Given the description of an element on the screen output the (x, y) to click on. 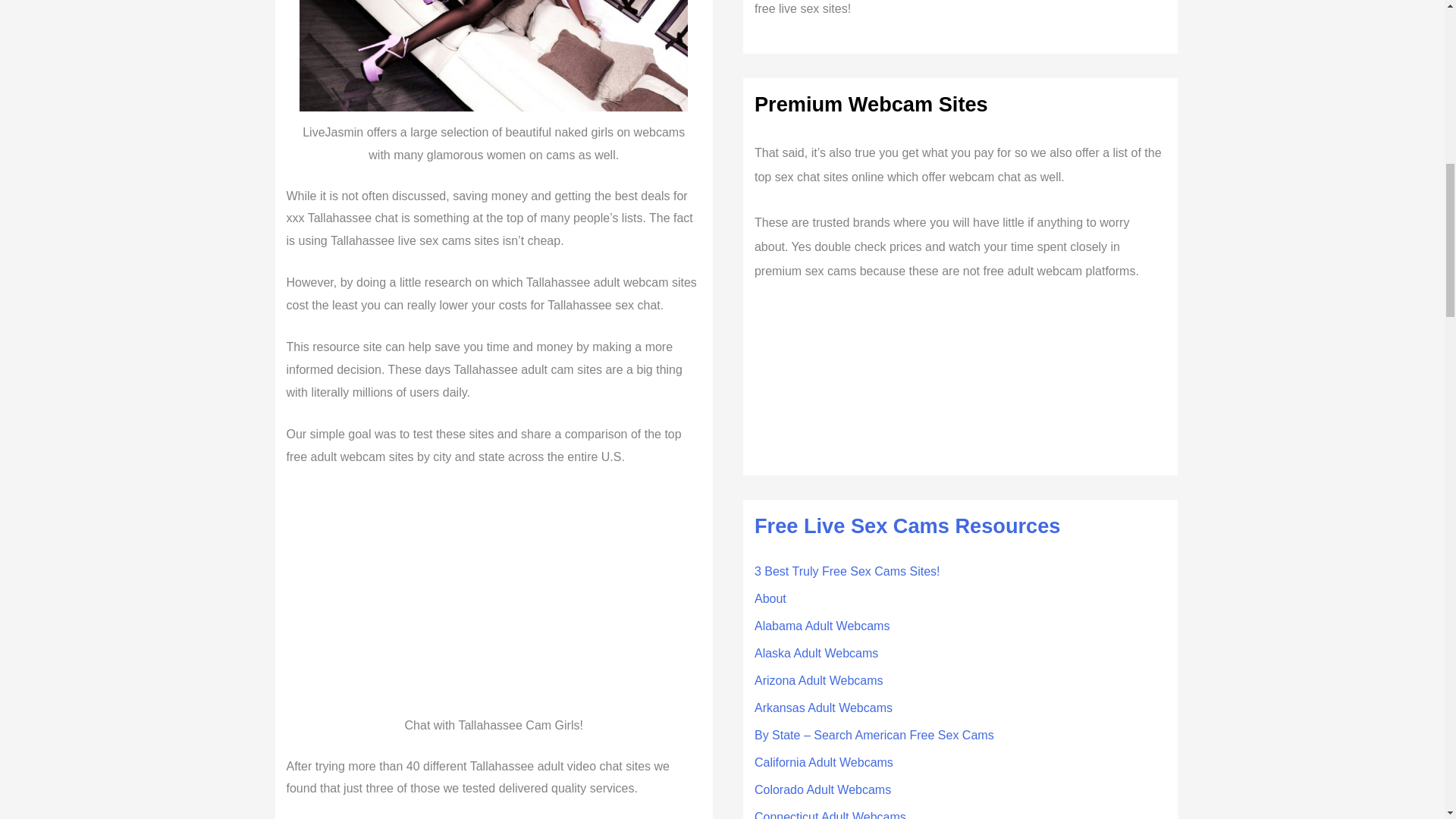
Chat with Tallahassee Cam Girls! (493, 595)
